Given the description of an element on the screen output the (x, y) to click on. 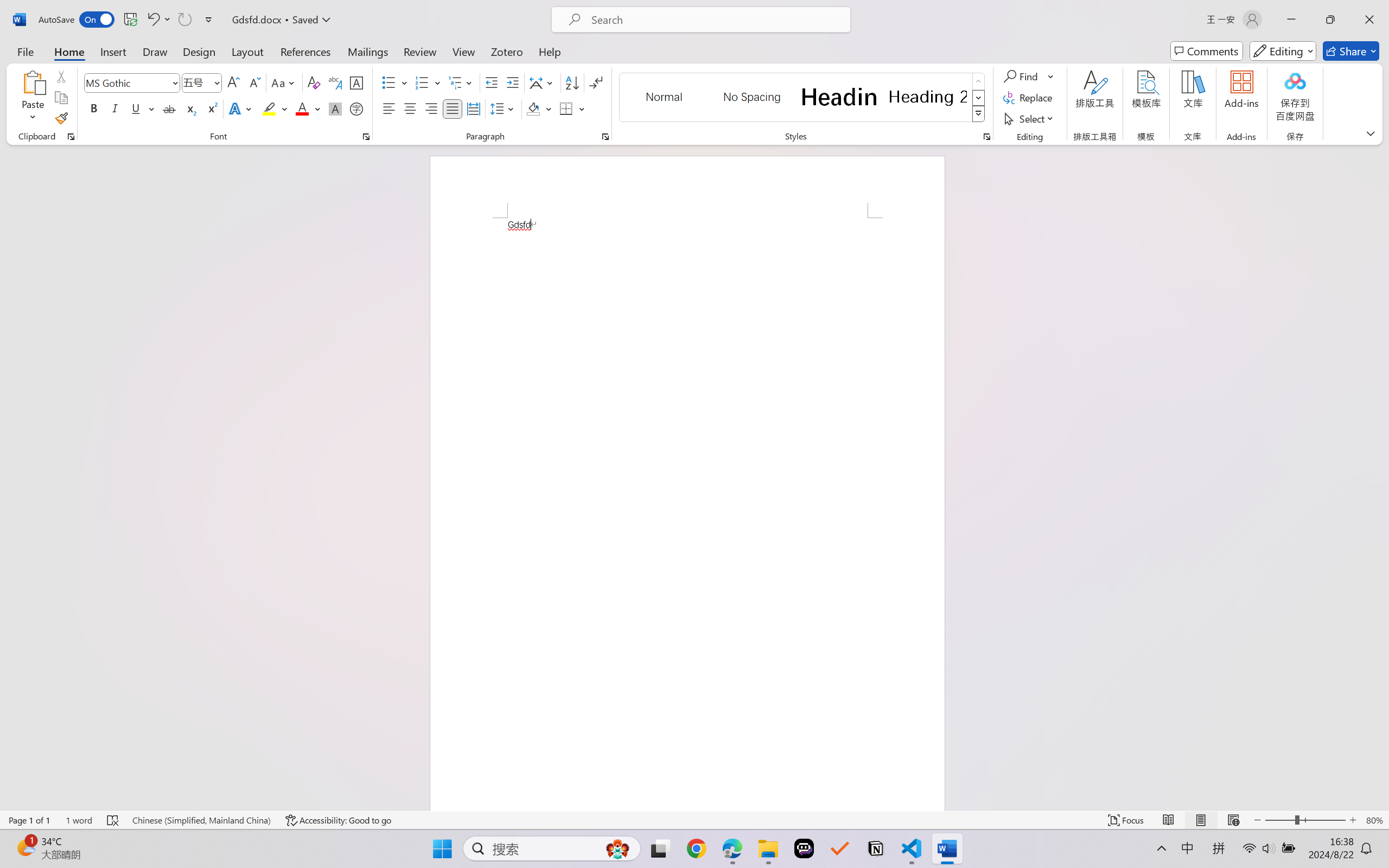
Can't Repeat (184, 19)
Class: NetUIScrollBar (1382, 477)
